Given the description of an element on the screen output the (x, y) to click on. 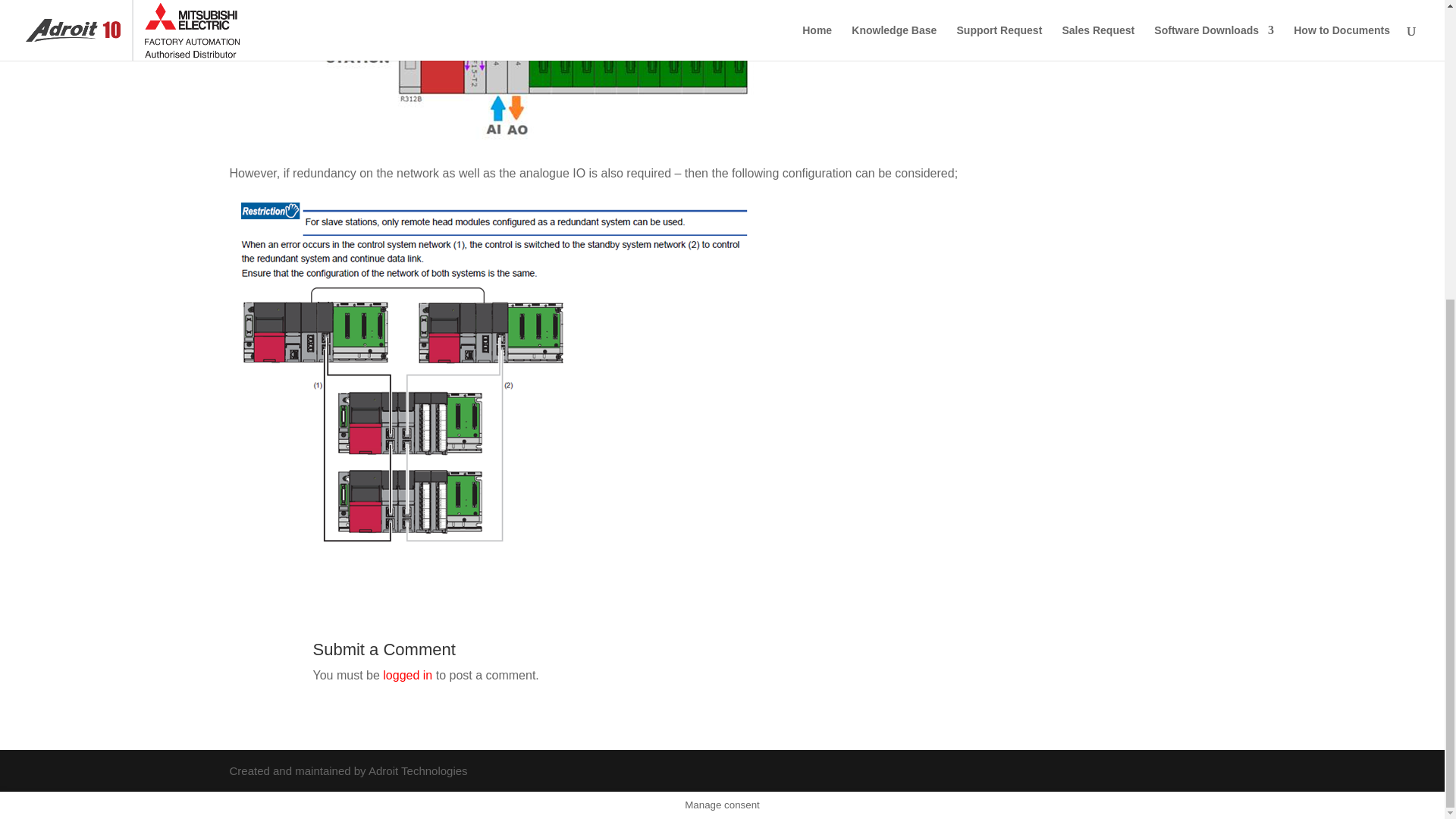
logged in (407, 675)
